Given the description of an element on the screen output the (x, y) to click on. 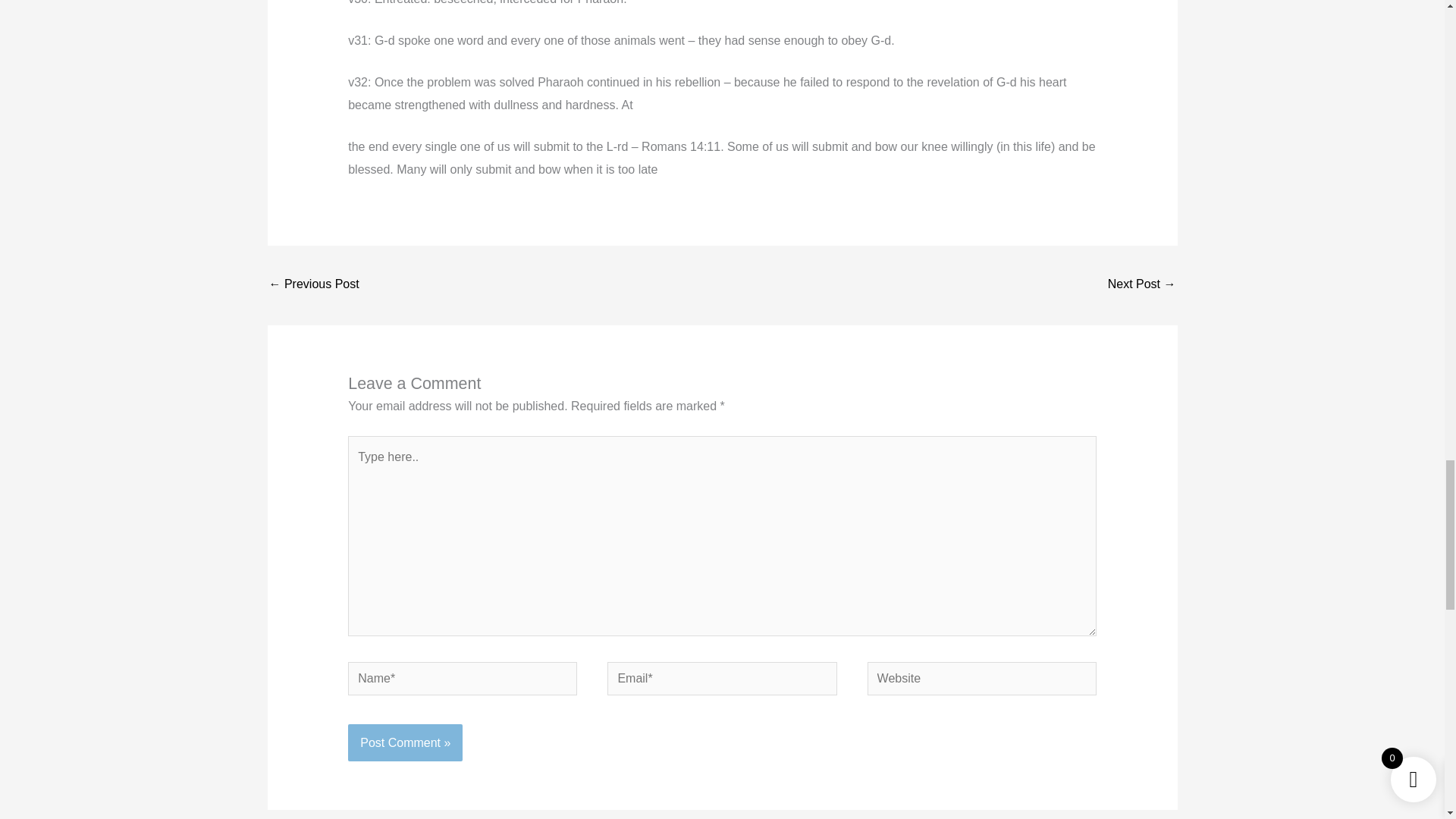
The Book of Exodus Bible Study Chapter 8 Part 1 (312, 285)
The Book of Exodus Bible Study Chapter 9 Part 1 (1142, 285)
